Given the description of an element on the screen output the (x, y) to click on. 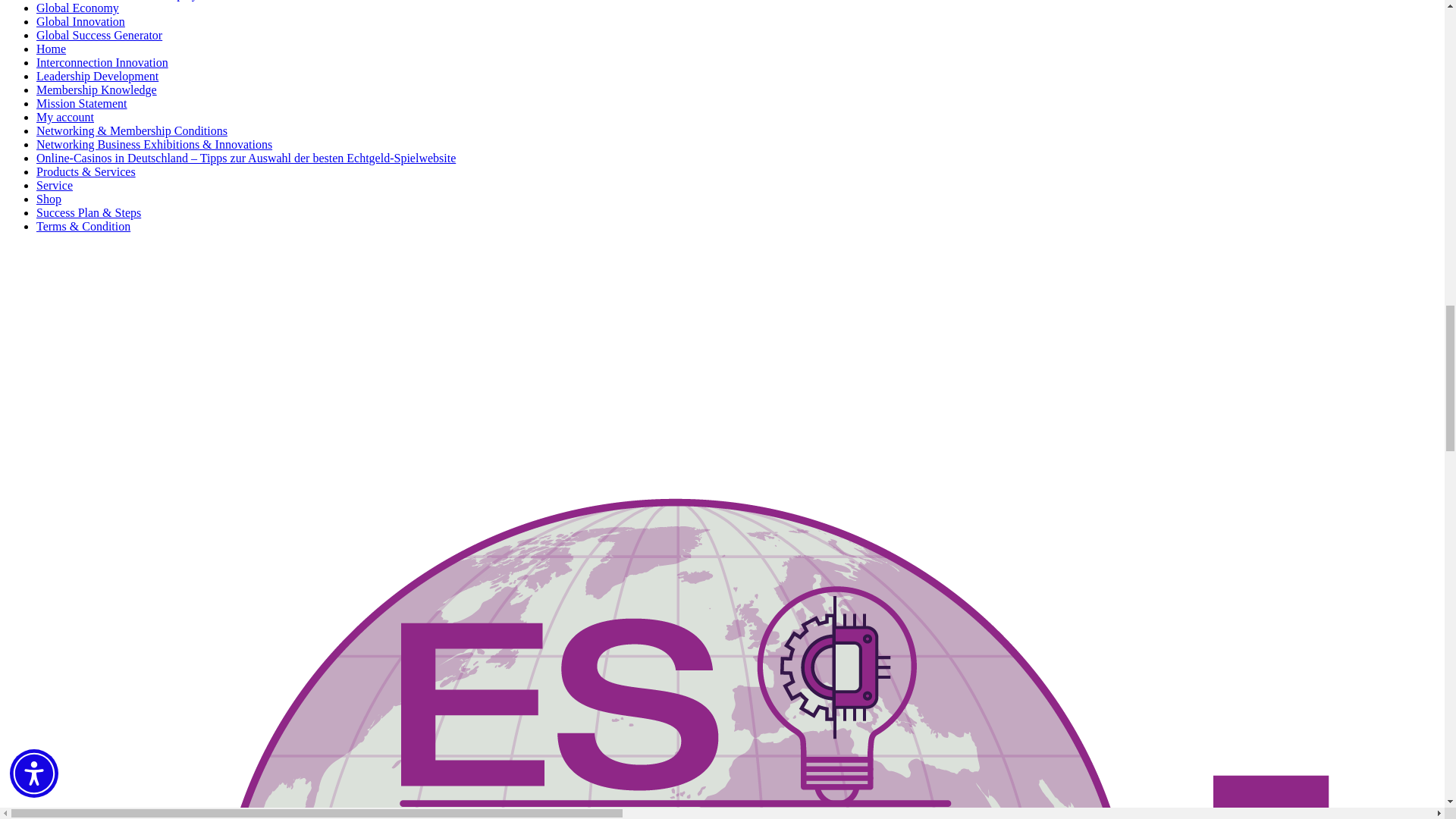
Global Success Generator (98, 34)
Global Economy (77, 7)
Mission Statement (82, 103)
Global Innovation (80, 21)
My account (65, 116)
Membership Knowledge (96, 89)
Shop (48, 198)
Interconnection Innovation (102, 62)
Leadership Development (97, 75)
Home (50, 48)
Service (54, 185)
